Given the description of an element on the screen output the (x, y) to click on. 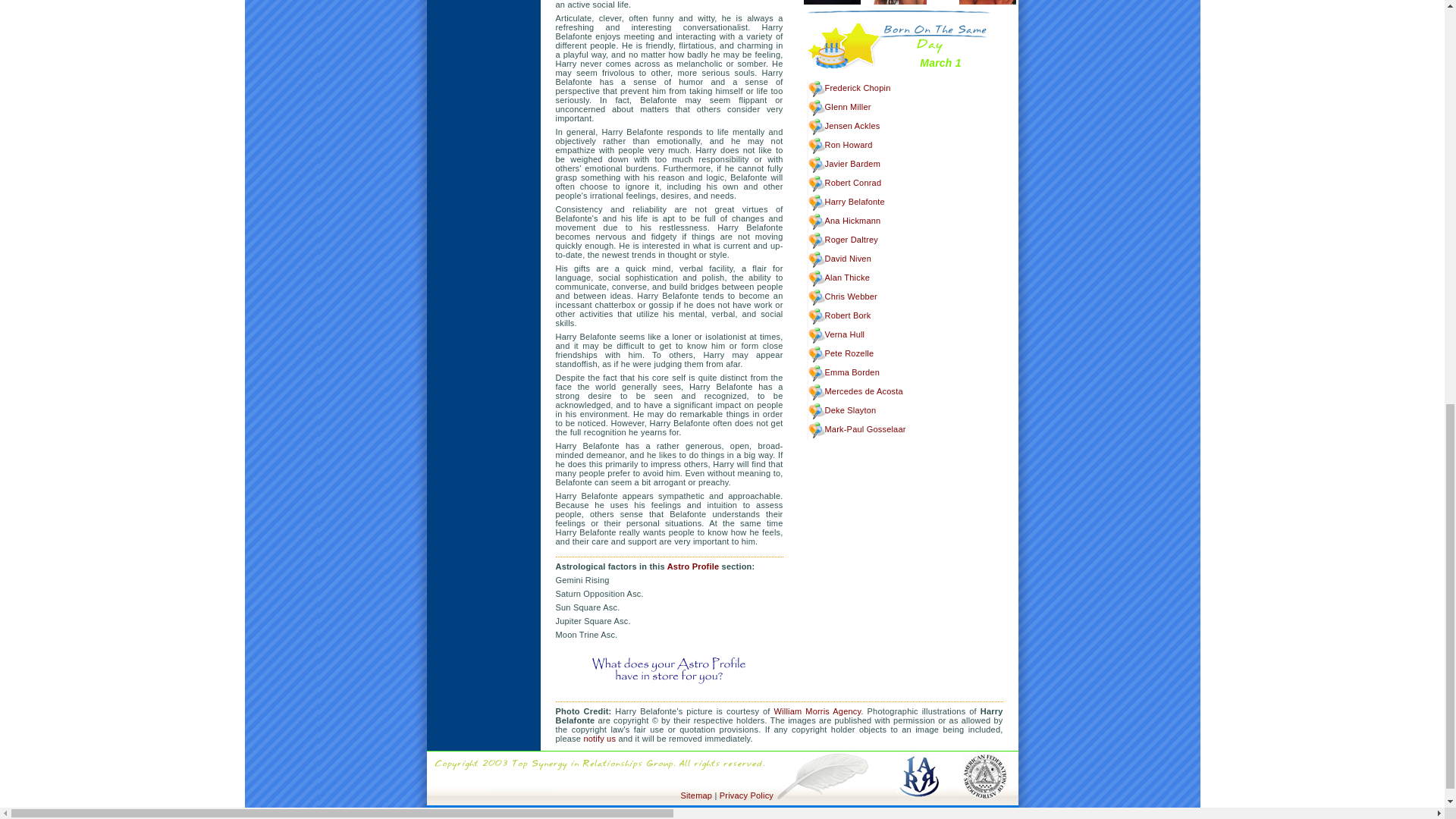
Advertisement (483, 19)
AFA Associate Research Member (984, 755)
